Given the description of an element on the screen output the (x, y) to click on. 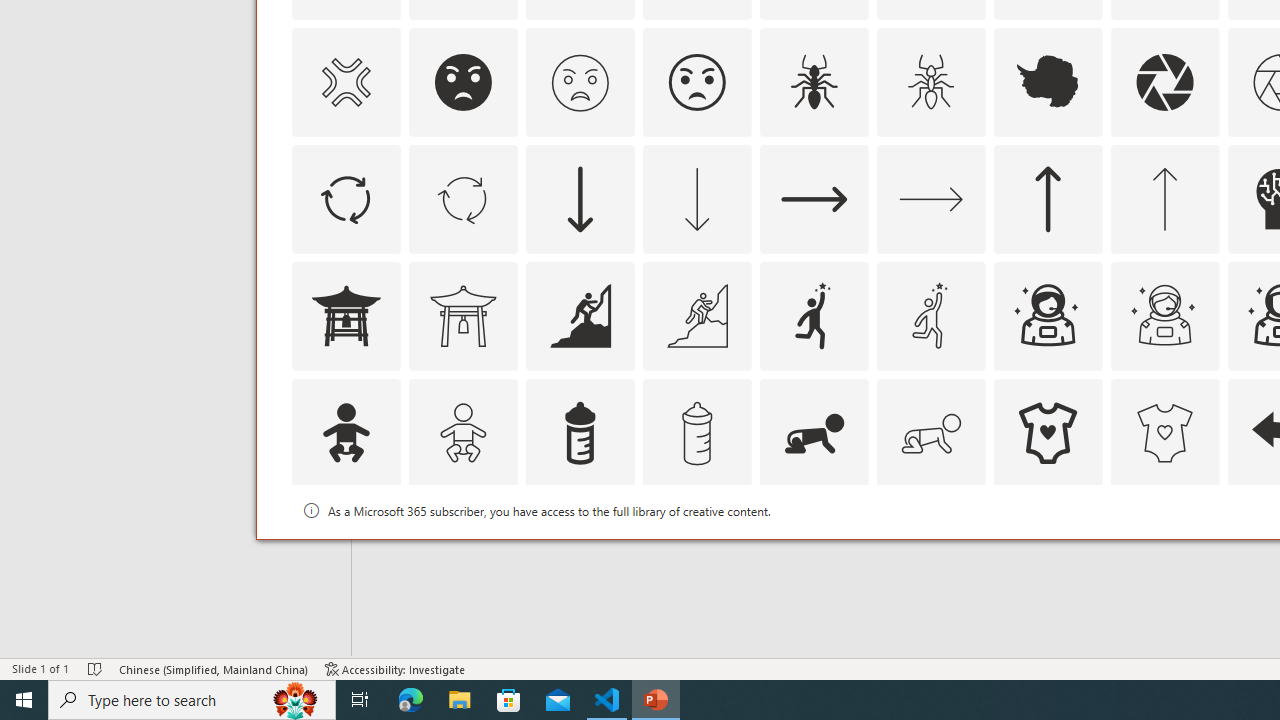
AutomationID: Icons_Badge3 (696, 550)
AutomationID: Icons_Ant_M (930, 82)
AutomationID: Icons_AstronautFemale (1048, 316)
AutomationID: Icons_Aperture (1164, 82)
AutomationID: Icons_Antarctica (1048, 82)
AutomationID: Icons_ArrowDown_M (696, 198)
Thumbnail (1204, 511)
AutomationID: Icons_ArrowRight_M (930, 198)
AutomationID: Icons_BabyOnesie (1048, 432)
AutomationID: Icons_BabyCrawling (813, 432)
